Given the description of an element on the screen output the (x, y) to click on. 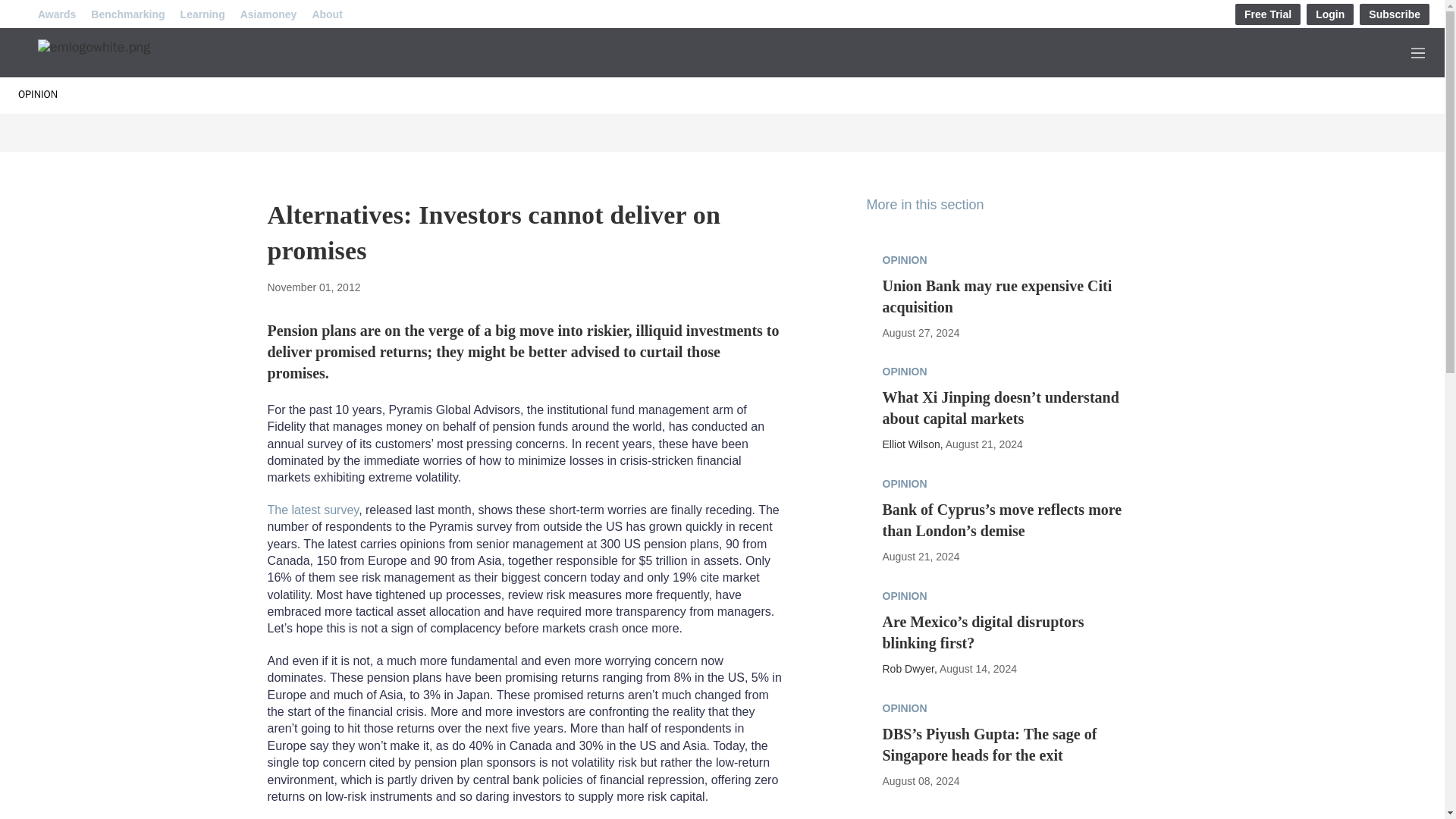
About (326, 13)
Benchmarking (127, 13)
Awards (56, 13)
Subscribe (1394, 13)
Login (1329, 13)
Asiamoney (268, 13)
Free Trial (1267, 13)
Learning (202, 13)
